Given the description of an element on the screen output the (x, y) to click on. 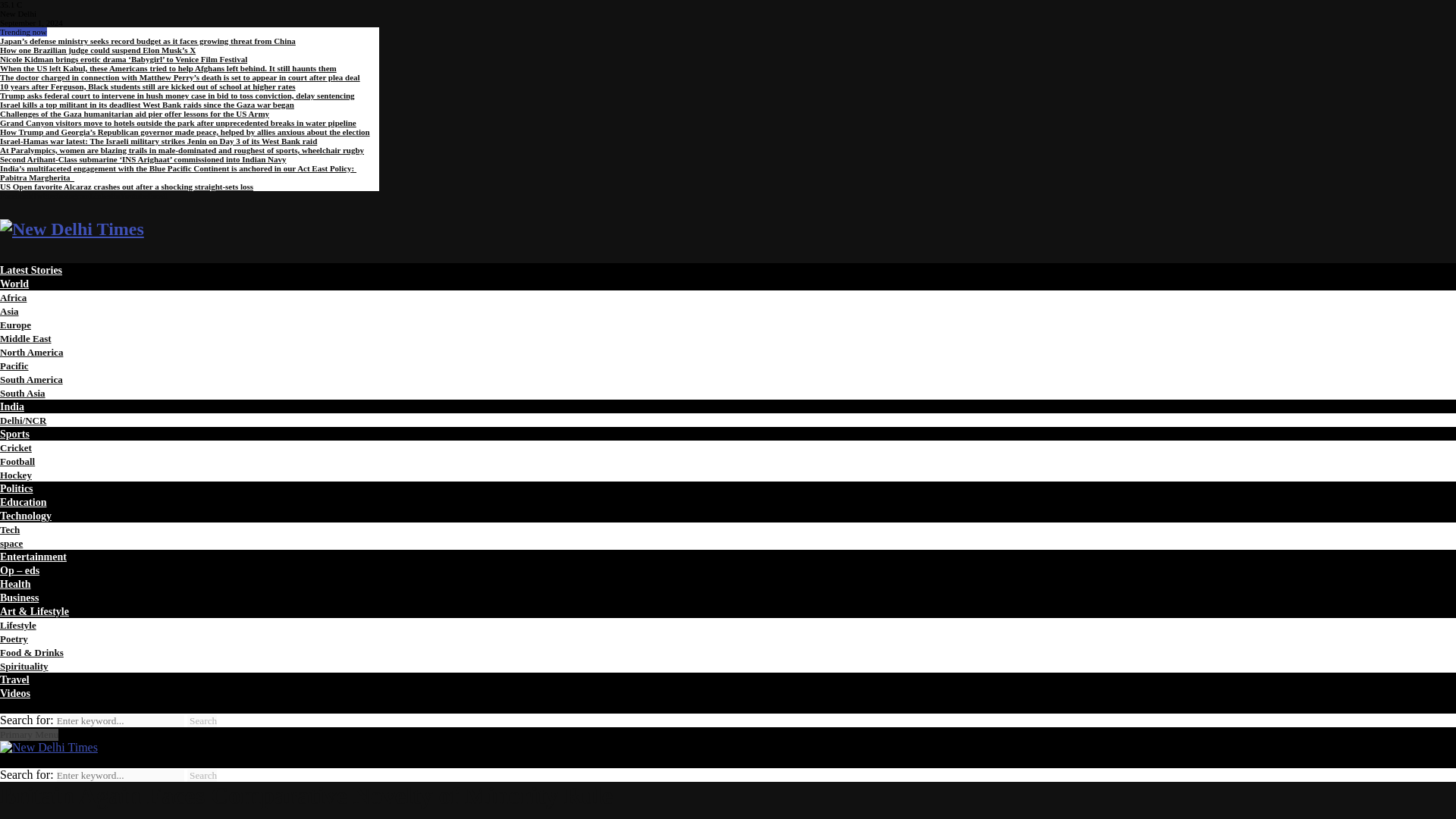
Cricket (16, 447)
South Asia (22, 392)
North America (31, 351)
Facebook (16, 194)
Football (17, 460)
Instagram (72, 194)
Twitter (44, 194)
Europe (15, 324)
